Given the description of an element on the screen output the (x, y) to click on. 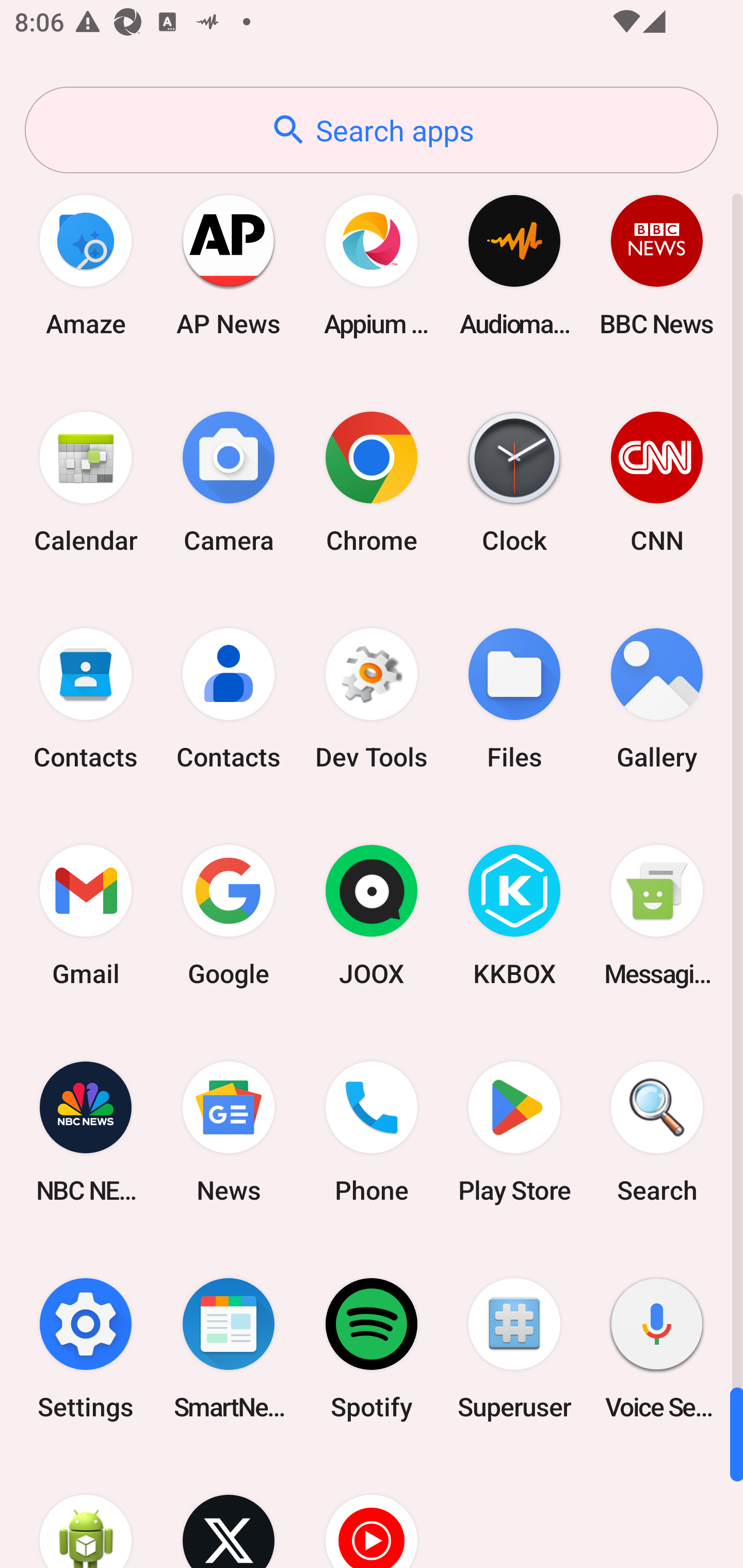
  Search apps (371, 130)
Amaze (85, 264)
AP News (228, 264)
Appium Settings (371, 264)
Audio­mack (514, 264)
BBC News (656, 264)
Calendar (85, 482)
Camera (228, 482)
Chrome (371, 482)
Clock (514, 482)
CNN (656, 482)
Contacts (85, 699)
Contacts (228, 699)
Dev Tools (371, 699)
Files (514, 699)
Gallery (656, 699)
Gmail (85, 915)
Google (228, 915)
JOOX (371, 915)
KKBOX (514, 915)
Messaging (656, 915)
NBC NEWS (85, 1131)
News (228, 1131)
Phone (371, 1131)
Play Store (514, 1131)
Search (656, 1131)
Settings (85, 1348)
SmartNews (228, 1348)
Spotify (371, 1348)
Superuser (514, 1348)
Voice Search (656, 1348)
